Given the description of an element on the screen output the (x, y) to click on. 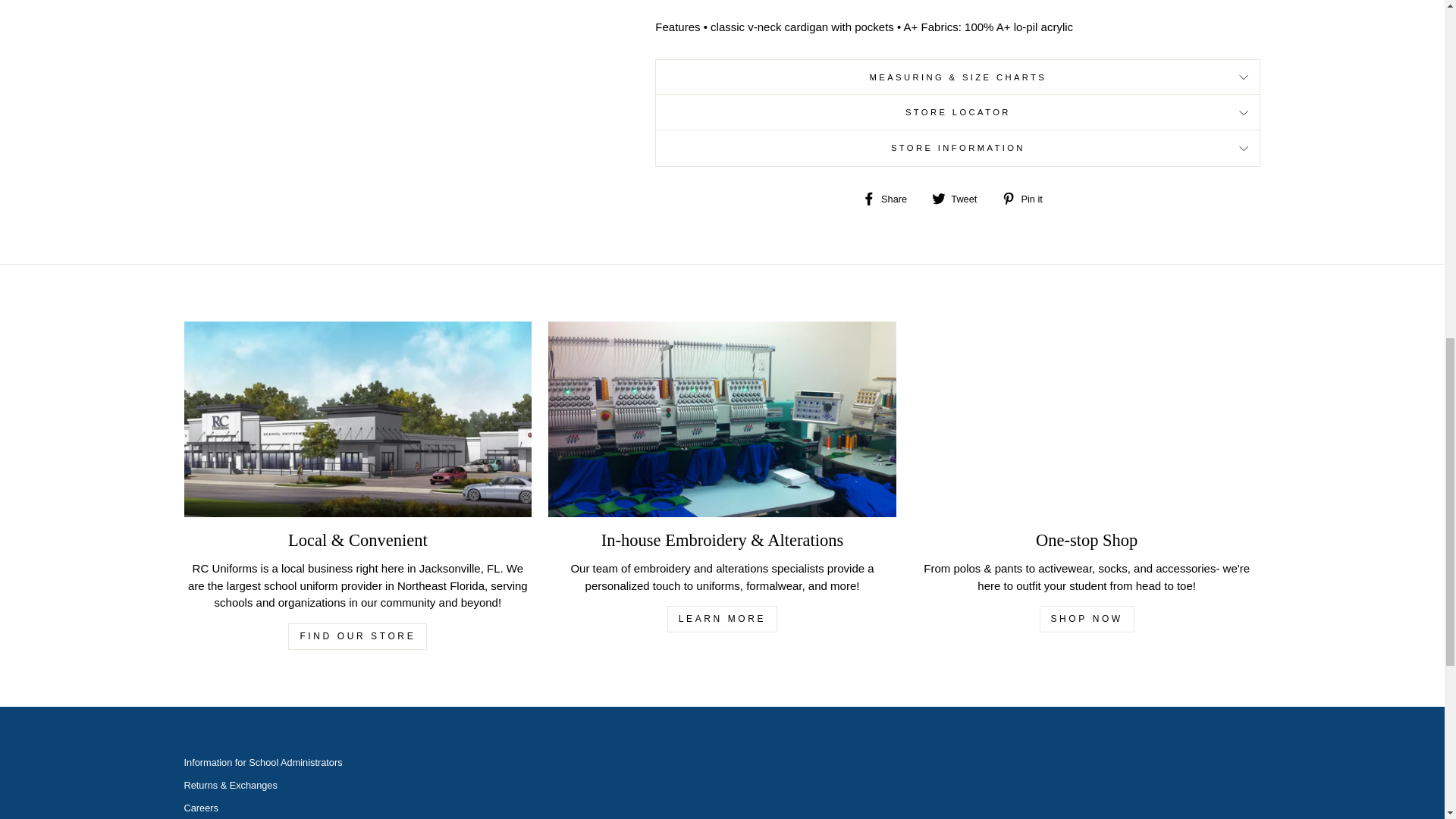
Tweet on Twitter (959, 198)
Pin on Pinterest (1027, 198)
Share on Facebook (889, 198)
